Given the description of an element on the screen output the (x, y) to click on. 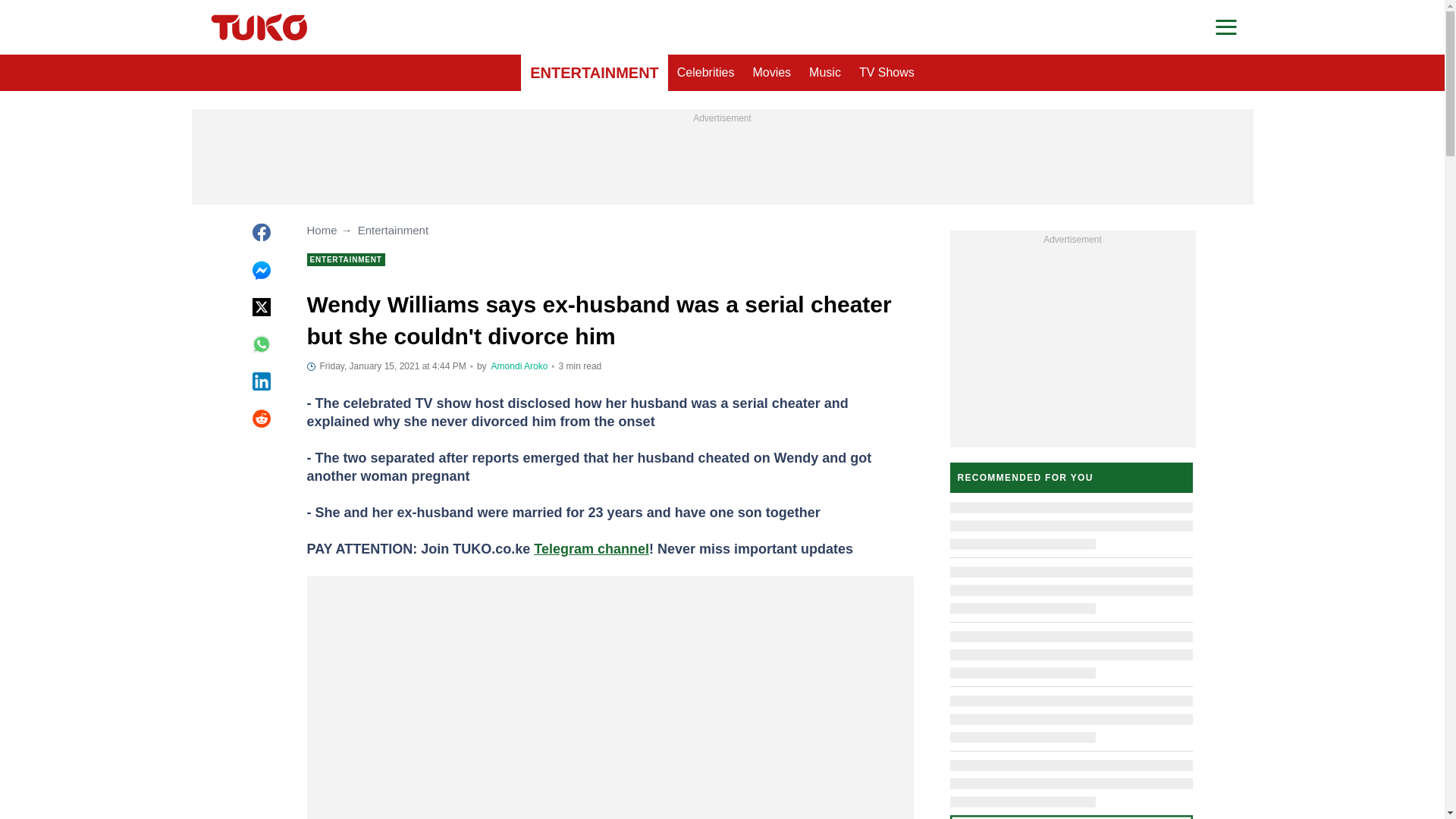
TV Shows (886, 72)
Music (824, 72)
ENTERTAINMENT (594, 72)
Celebrities (706, 72)
Movies (770, 72)
Author page (520, 366)
